Given the description of an element on the screen output the (x, y) to click on. 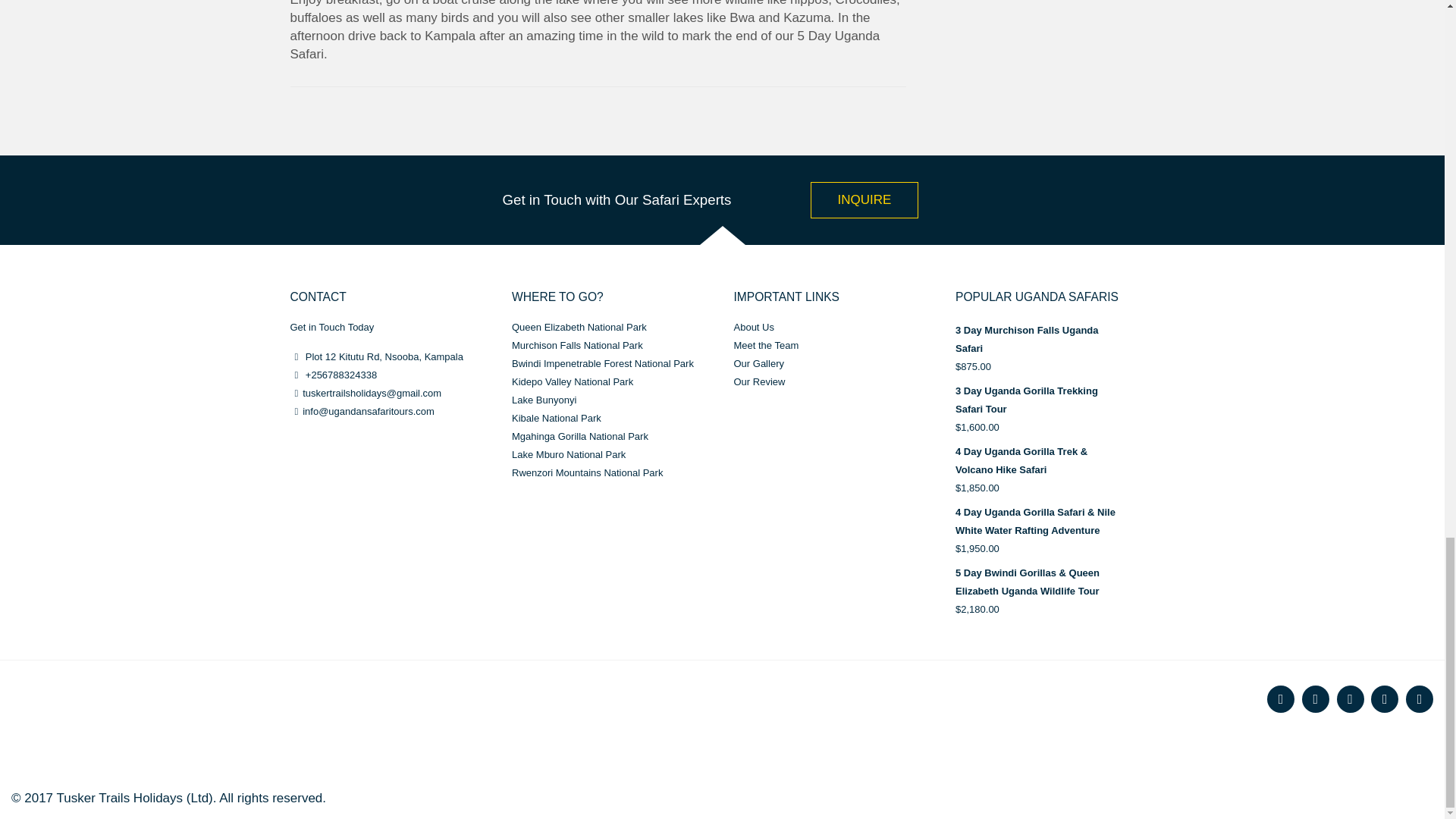
Bwindi Impenetrable Forest National Park (603, 363)
Lake Bunyonyi (544, 399)
About Us (753, 326)
INQUIRE (863, 199)
Queen Elizabeth National Park (579, 326)
Rwenzori Mountains National Park (587, 472)
3 Day Murchison Falls Uganda Safari (1054, 339)
Mgahinga Gorilla National Park (579, 436)
Murchison Falls National Park (577, 345)
3 Day Uganda Gorilla Trekking Safari Tour (1054, 400)
Kidepo Valley National Park (572, 381)
Our Gallery (758, 363)
Lake Mburo National Park (569, 454)
Kibale National Park (556, 418)
